Given the description of an element on the screen output the (x, y) to click on. 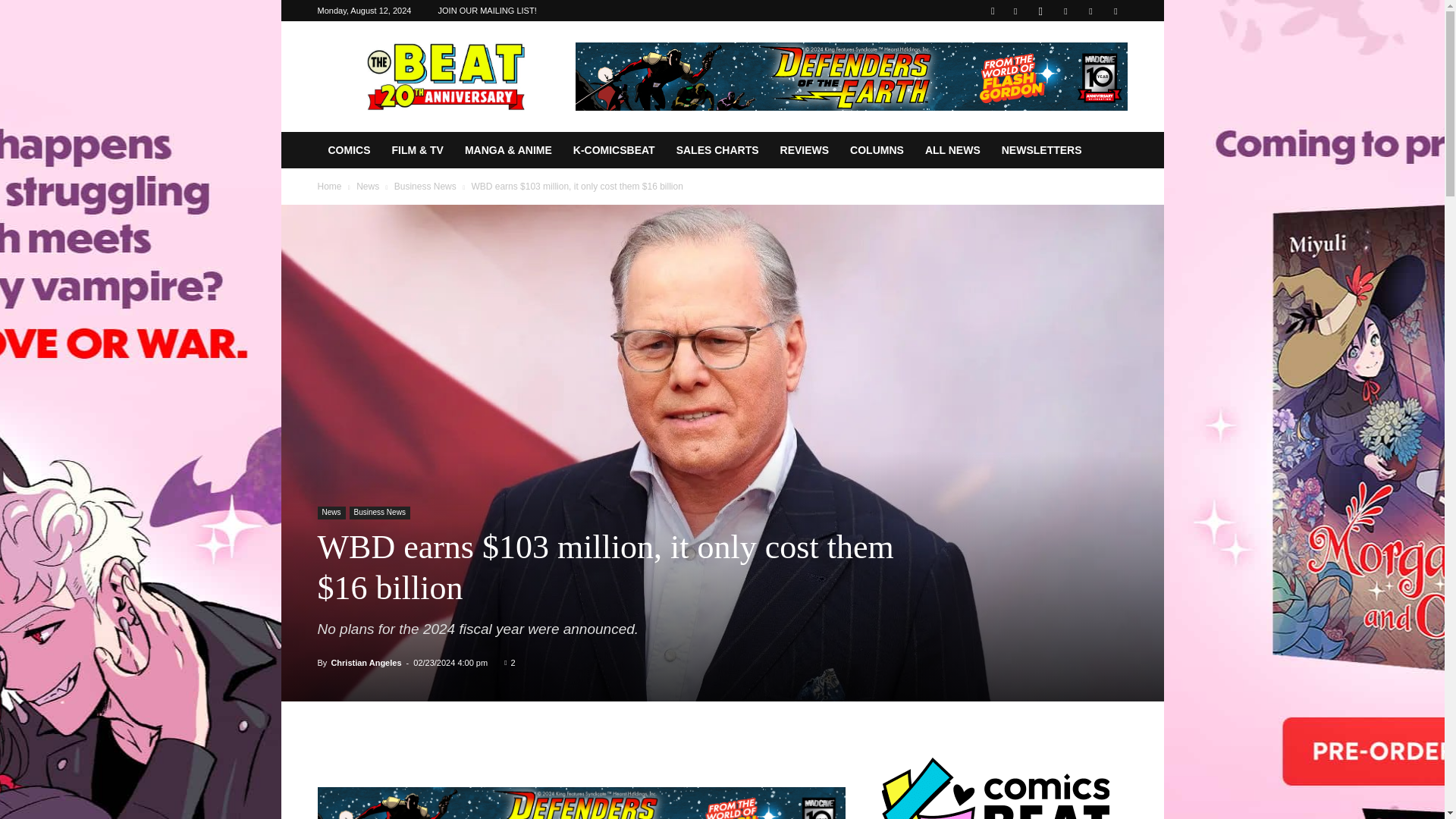
Twitter (1090, 10)
COLUMNS (877, 149)
Search (1085, 64)
RSS (1065, 10)
Instagram (1040, 10)
Facebook (1015, 10)
K-COMICSBEAT (613, 149)
REVIEWS (805, 149)
View all posts in Business News (425, 185)
NEWSLETTERS (1042, 149)
